Given the description of an element on the screen output the (x, y) to click on. 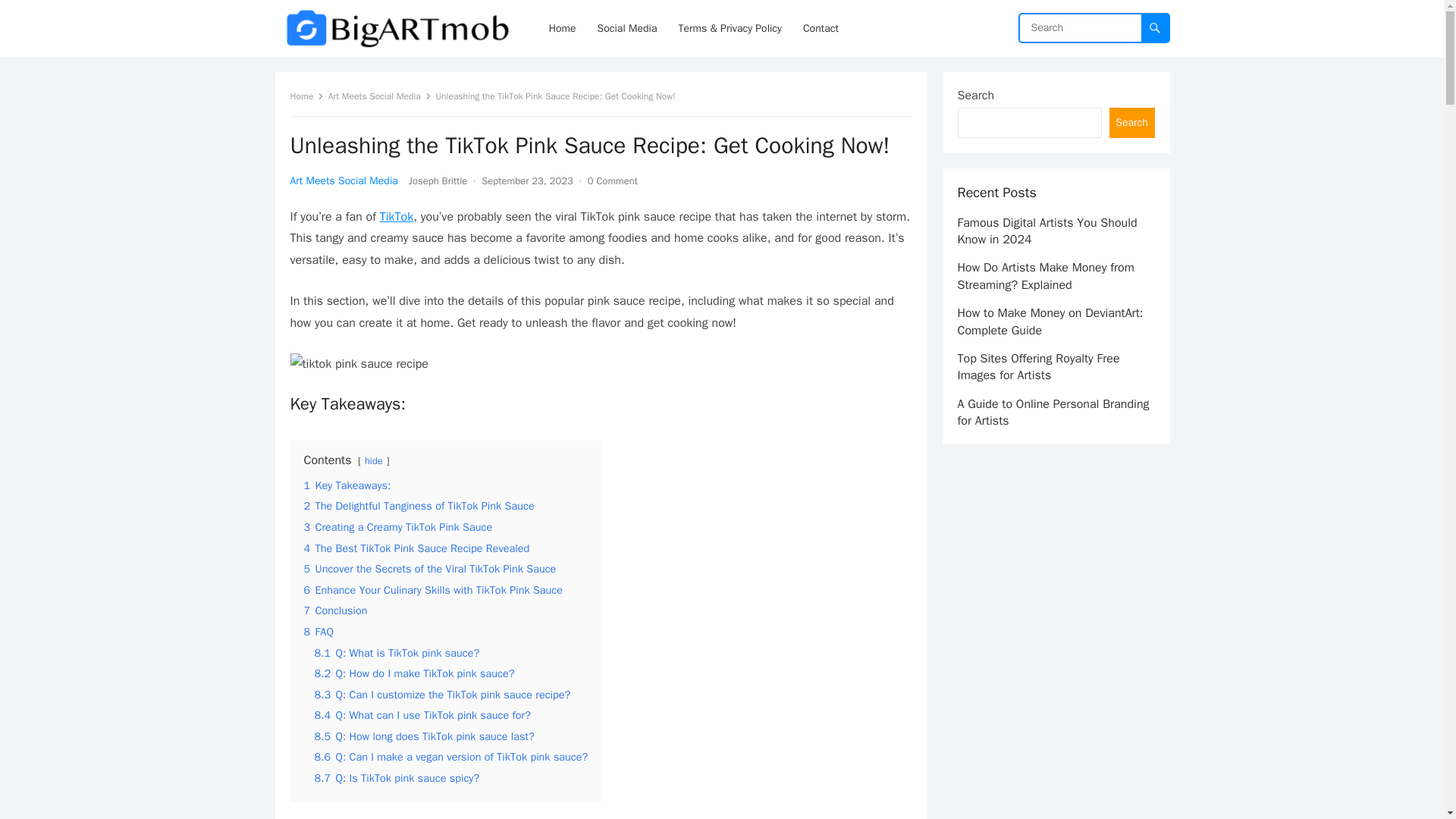
Art Meets Social Media (379, 96)
4 The Best TikTok Pink Sauce Recipe Revealed (415, 548)
Art Meets Social Media (343, 180)
Social Media (627, 28)
Joseph Brittle (438, 180)
3 Creating a Creamy TikTok Pink Sauce (397, 526)
Contact (820, 28)
7 Conclusion (334, 610)
hide (373, 460)
8.1 Q: What is TikTok pink sauce? (396, 653)
8.4 Q: What can I use TikTok pink sauce for? (421, 714)
TikTok (396, 216)
8.7 Q: Is TikTok pink sauce spicy? (396, 777)
8.2 Q: How do I make TikTok pink sauce? (413, 673)
1 Key Takeaways: (346, 485)
